Given the description of an element on the screen output the (x, y) to click on. 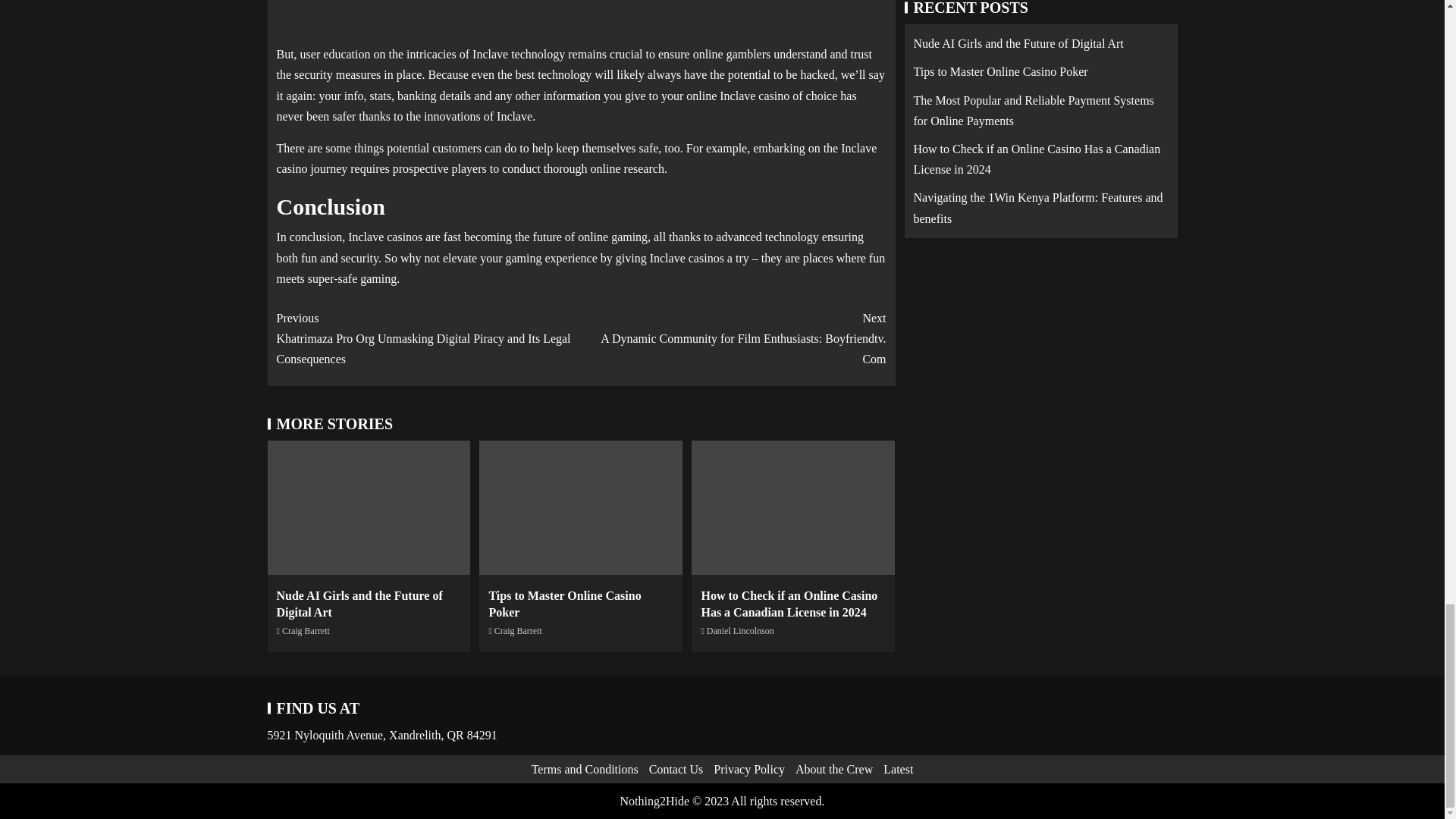
Craig Barrett (518, 630)
Craig Barrett (306, 630)
Tips to Master Online Casino Poker (563, 603)
Nude AI Girls and the Future of Digital Art (359, 603)
Daniel Lincolnson (740, 630)
